Given the description of an element on the screen output the (x, y) to click on. 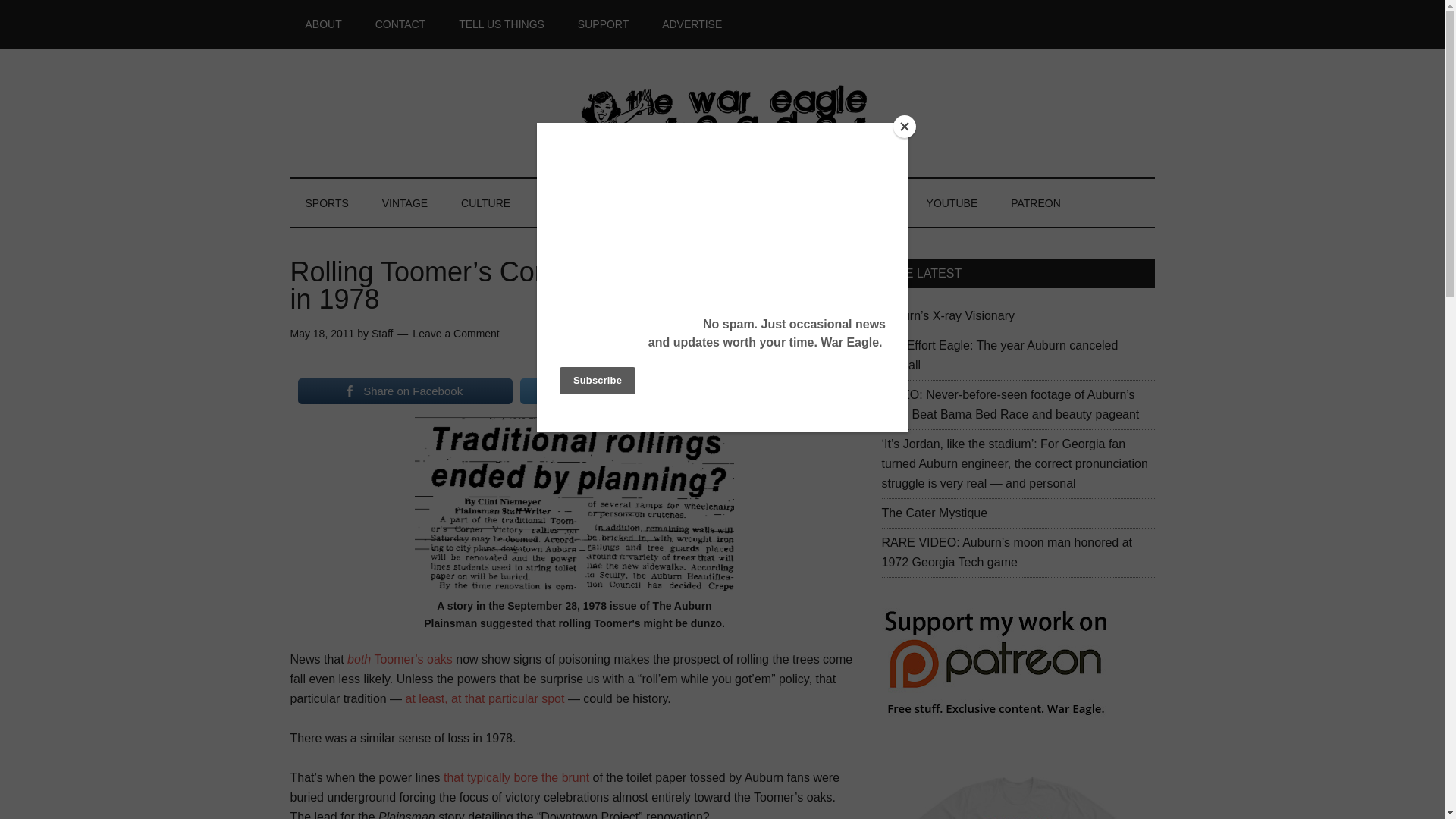
Tweet (597, 390)
PATREON (1035, 203)
ABOUT (322, 24)
CONTACT (400, 24)
Share on Facebook (404, 390)
YOUTUBE (951, 203)
TELL US THINGS (501, 24)
SPORTS (325, 203)
at least, at that particular spot (485, 698)
VINTAGE (404, 203)
The War Eagle Reader (721, 112)
Email this (770, 390)
ADVERTISE (691, 24)
PEOPLE (564, 203)
CULTURE (485, 203)
